Given the description of an element on the screen output the (x, y) to click on. 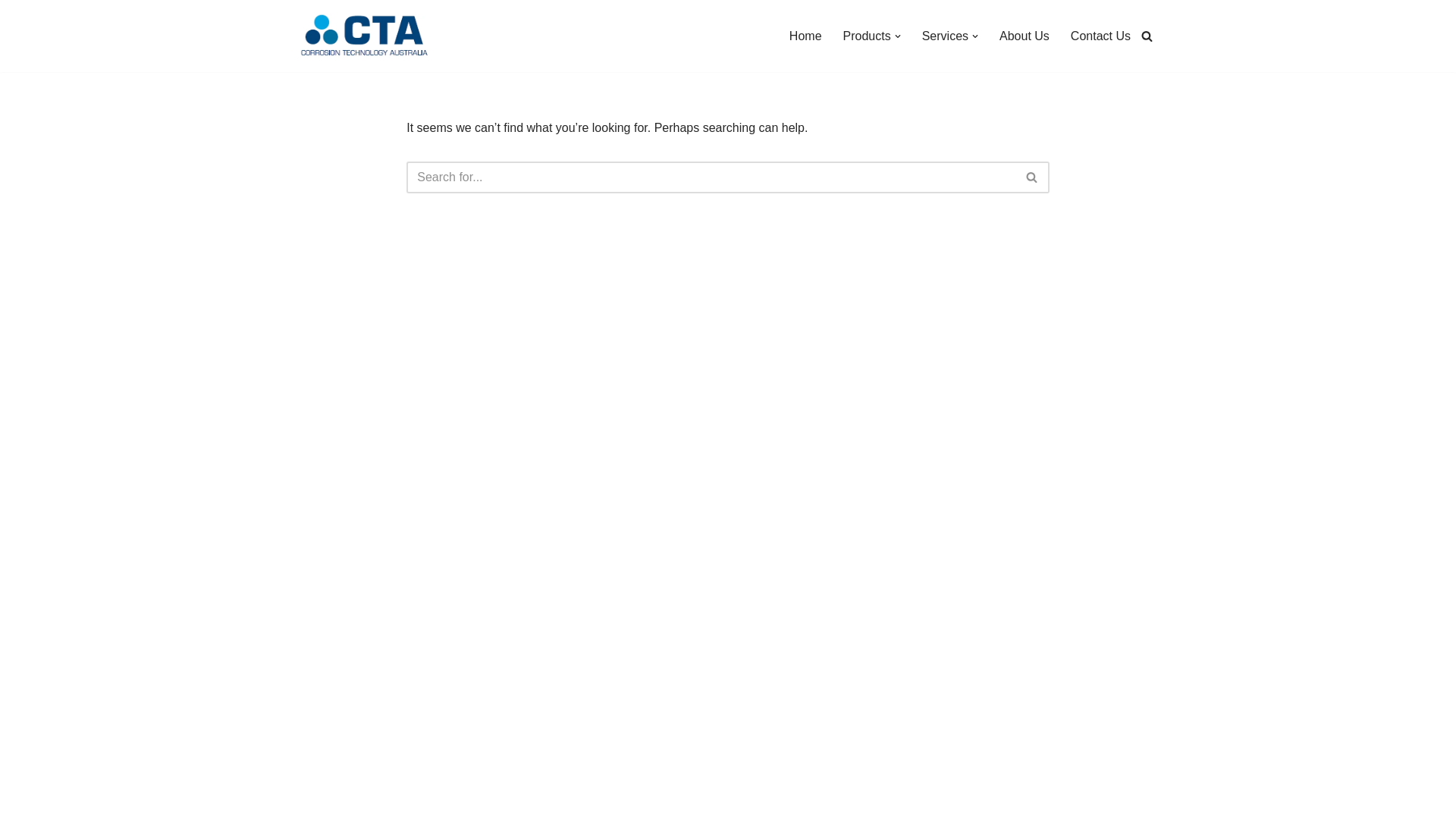
Home Element type: text (805, 35)
About Us Element type: text (1024, 35)
Products Element type: text (867, 35)
Skip to content Element type: text (11, 31)
WordPress Element type: text (431, 799)
Neve Element type: text (309, 799)
Services Element type: text (945, 35)
Contact Us Element type: text (1100, 35)
